Given the description of an element on the screen output the (x, y) to click on. 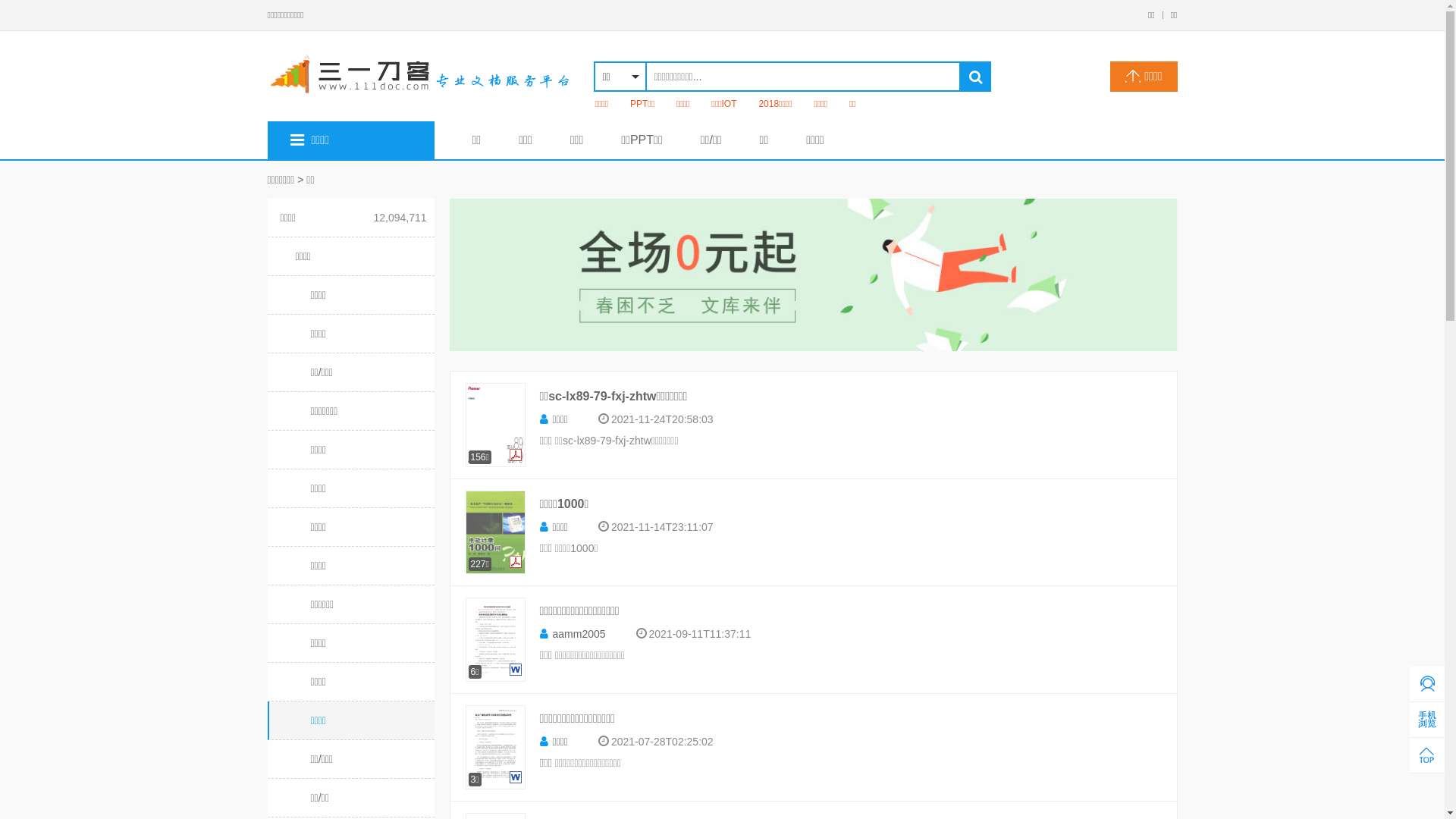
aamm2005 Element type: text (572, 633)
